Given the description of an element on the screen output the (x, y) to click on. 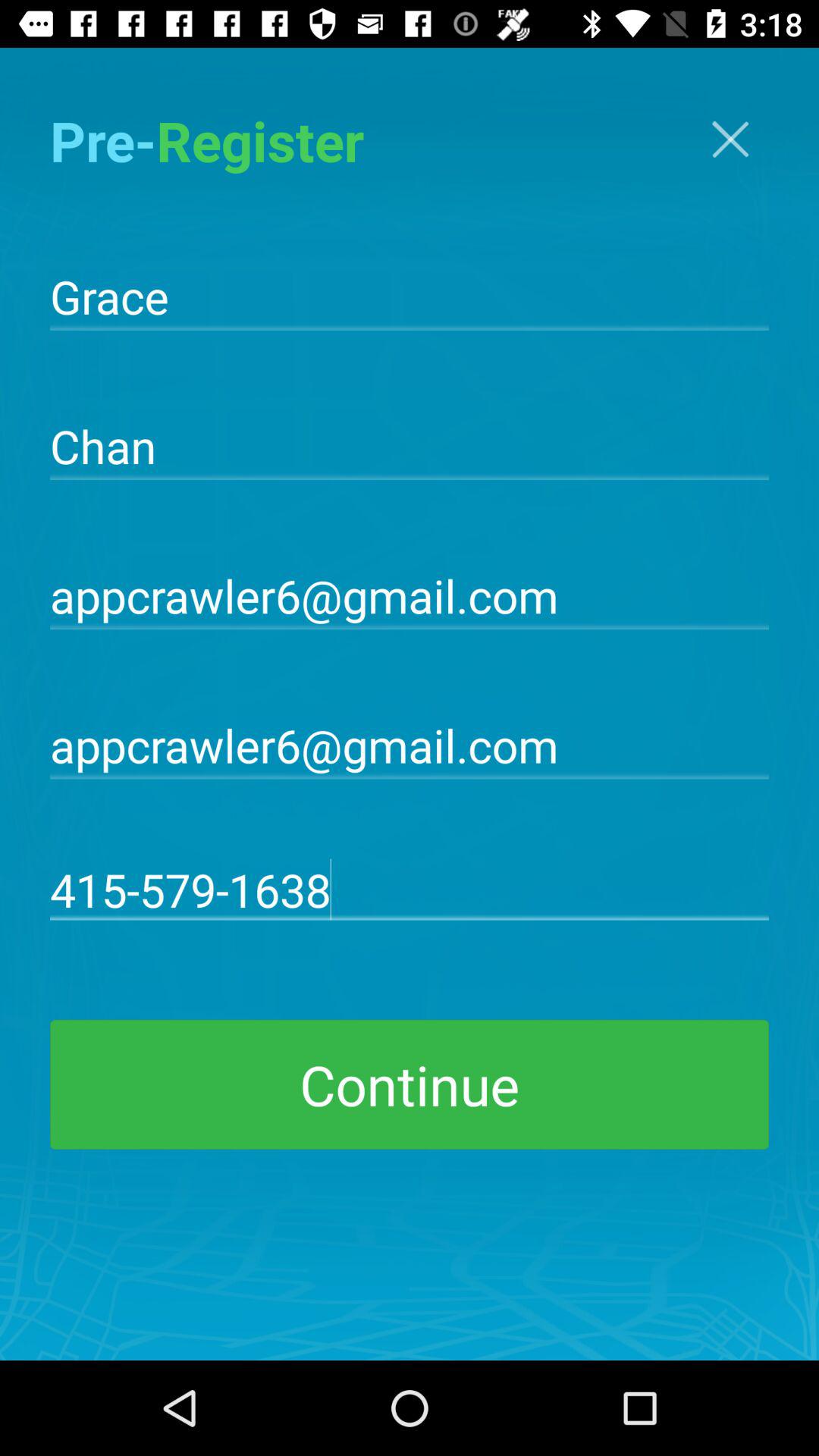
swipe until continue (409, 1084)
